Given the description of an element on the screen output the (x, y) to click on. 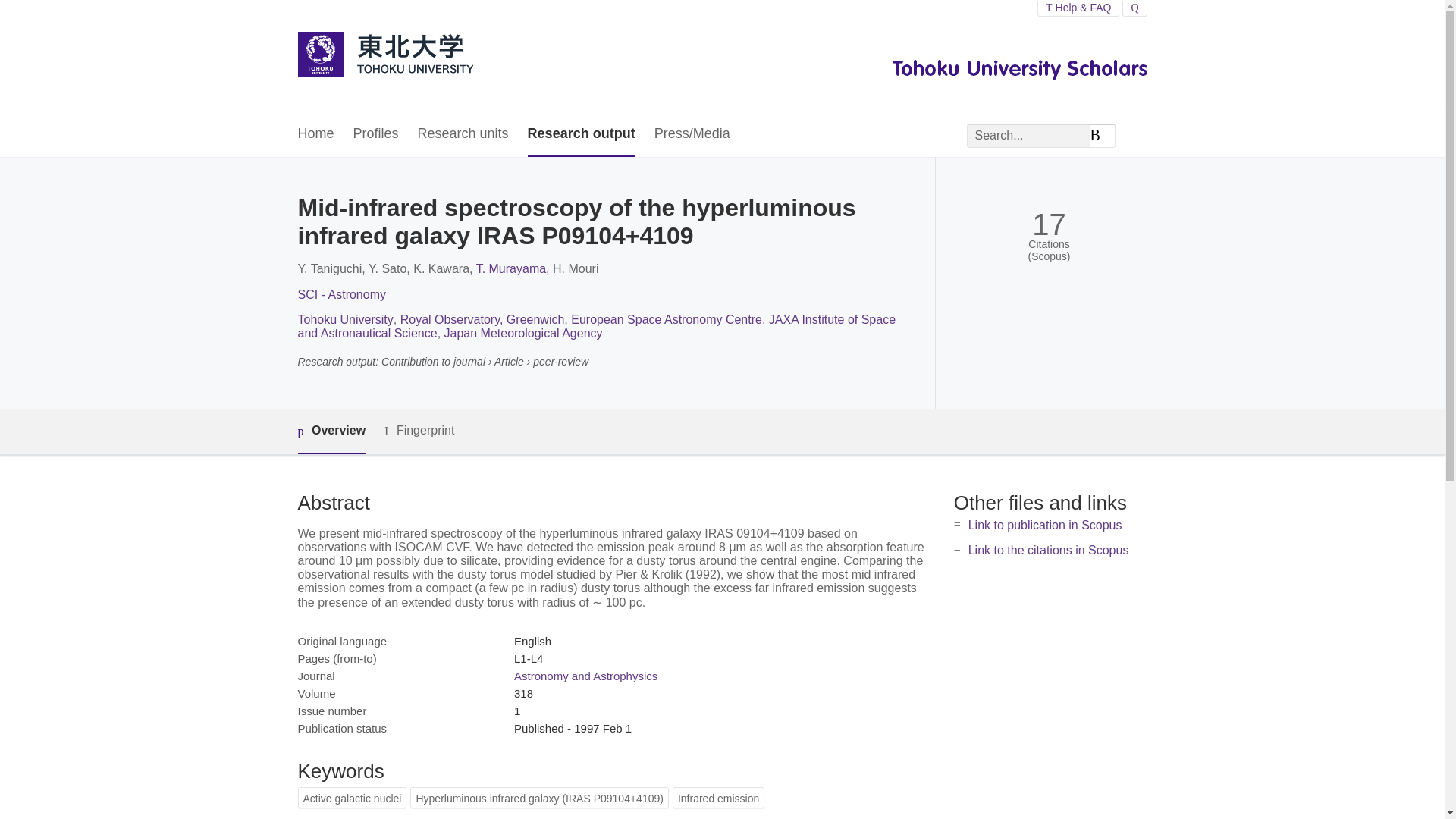
SCI - Astronomy (341, 294)
Link to the citations in Scopus (1048, 549)
Link to publication in Scopus (1045, 524)
JAXA Institute of Space and Astronautical Science (596, 325)
Research units (462, 134)
Profiles (375, 134)
T. Murayama (511, 268)
Astronomy and Astrophysics (585, 675)
Research output (580, 134)
Overview (331, 431)
Royal Observatory, Greenwich (482, 318)
Tohoku University (345, 318)
Fingerprint (419, 430)
Tohoku University Home (384, 55)
